Given the description of an element on the screen output the (x, y) to click on. 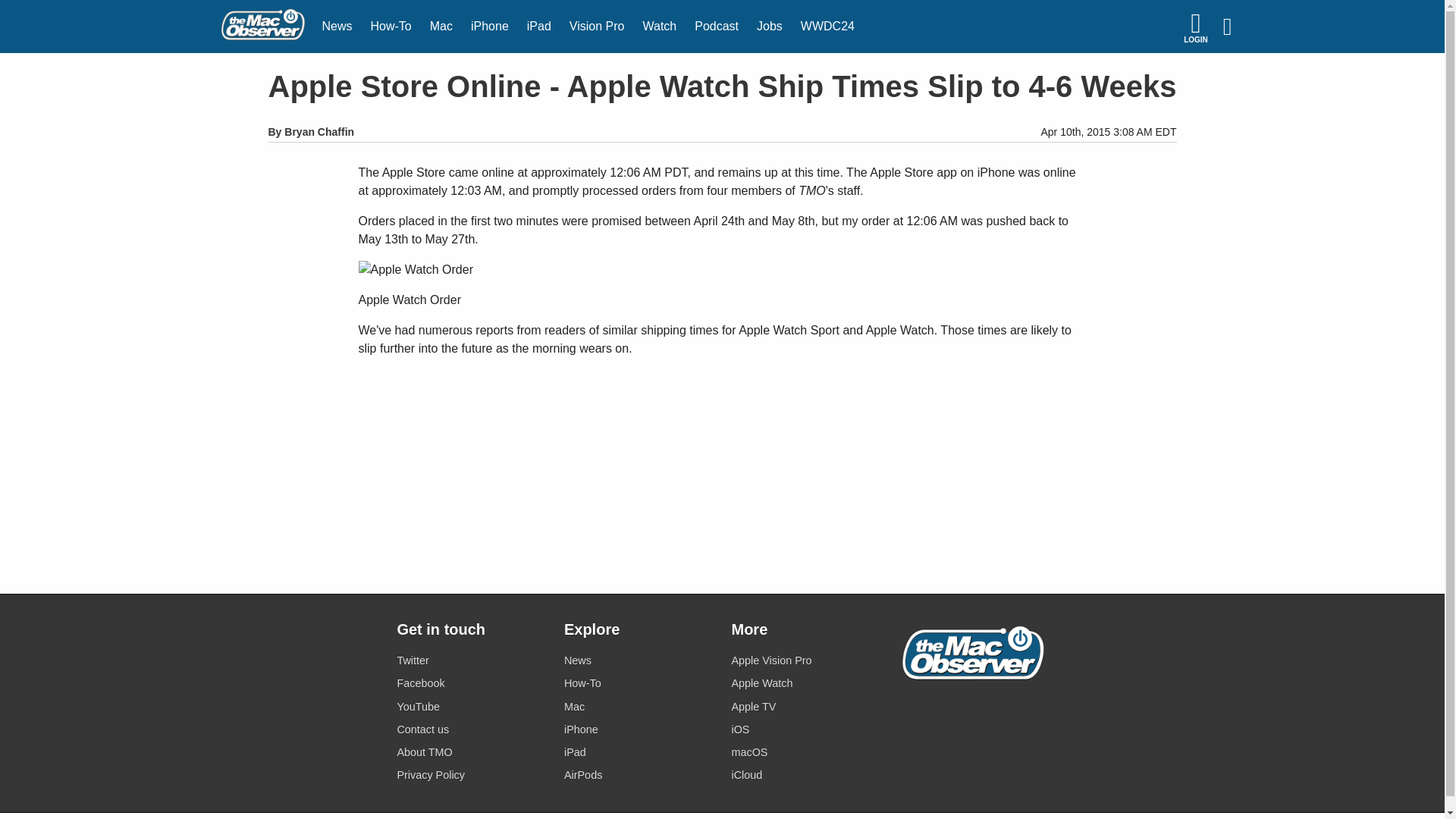
News (638, 660)
Jobs (770, 26)
Twitter (471, 660)
How-To (390, 26)
Mac (440, 26)
iPhone (489, 26)
Vision Pro (596, 26)
News (337, 26)
Privacy Policy (471, 774)
Podcast (716, 26)
iPad (539, 26)
iPad (539, 26)
Podcast (716, 26)
Mac (638, 706)
Watch (659, 26)
